Given the description of an element on the screen output the (x, y) to click on. 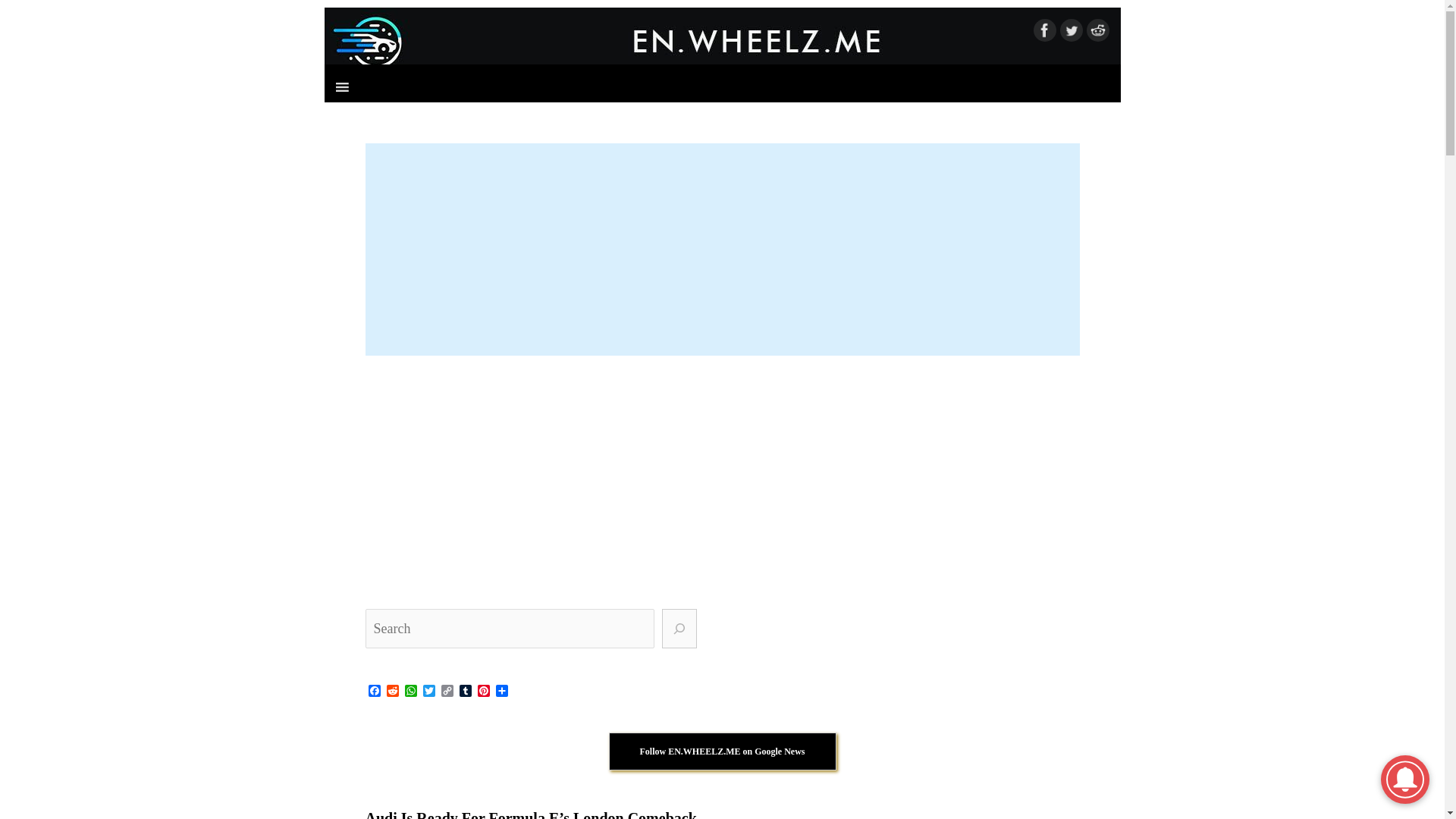
Reddit (392, 691)
Facebook (374, 691)
EN.WHEELZ.ME (722, 41)
Copy Link (447, 691)
Twitter (429, 691)
WhatsApp (410, 691)
Copy Link (447, 691)
Pinterest (483, 691)
Twitter (429, 691)
